Given the description of an element on the screen output the (x, y) to click on. 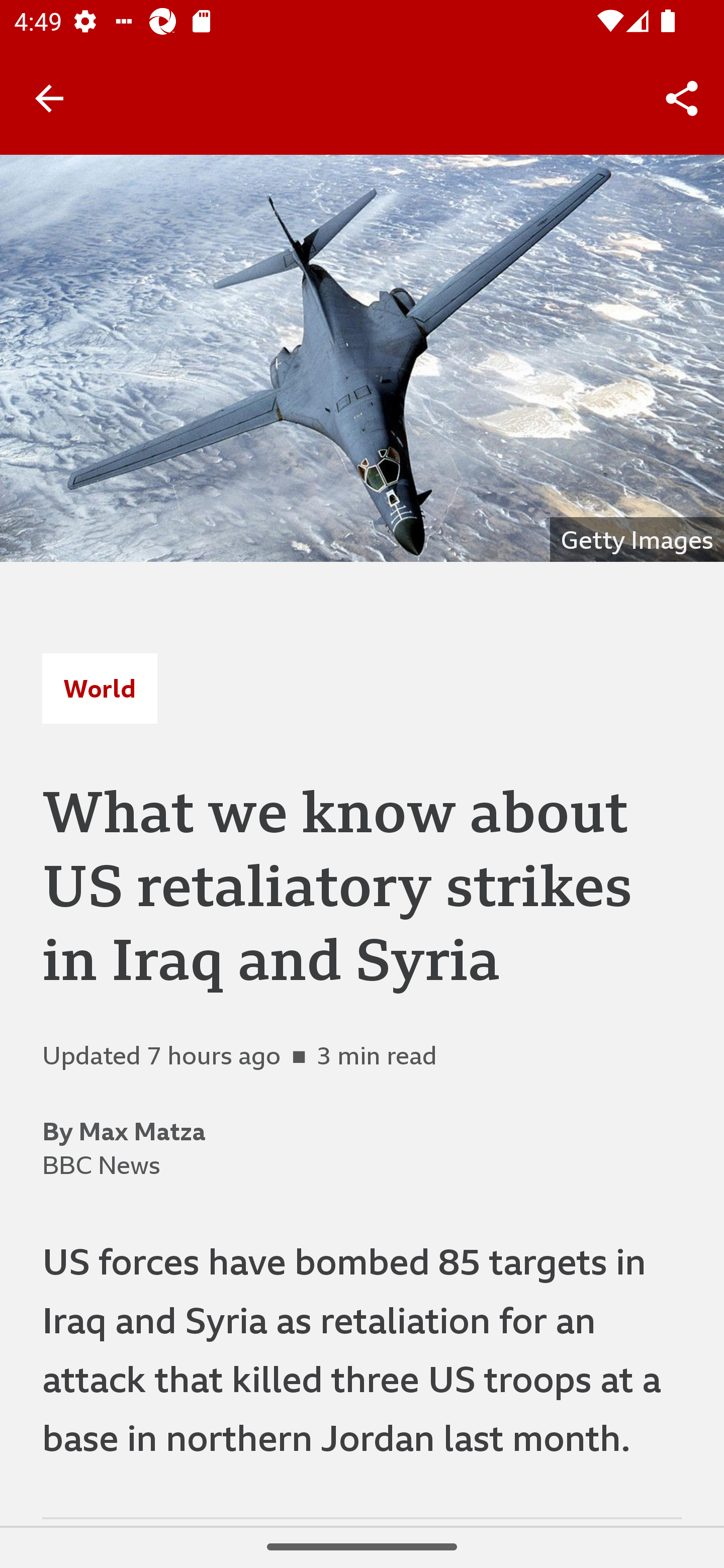
Back (49, 97)
Share (681, 98)
World (99, 688)
